Given the description of an element on the screen output the (x, y) to click on. 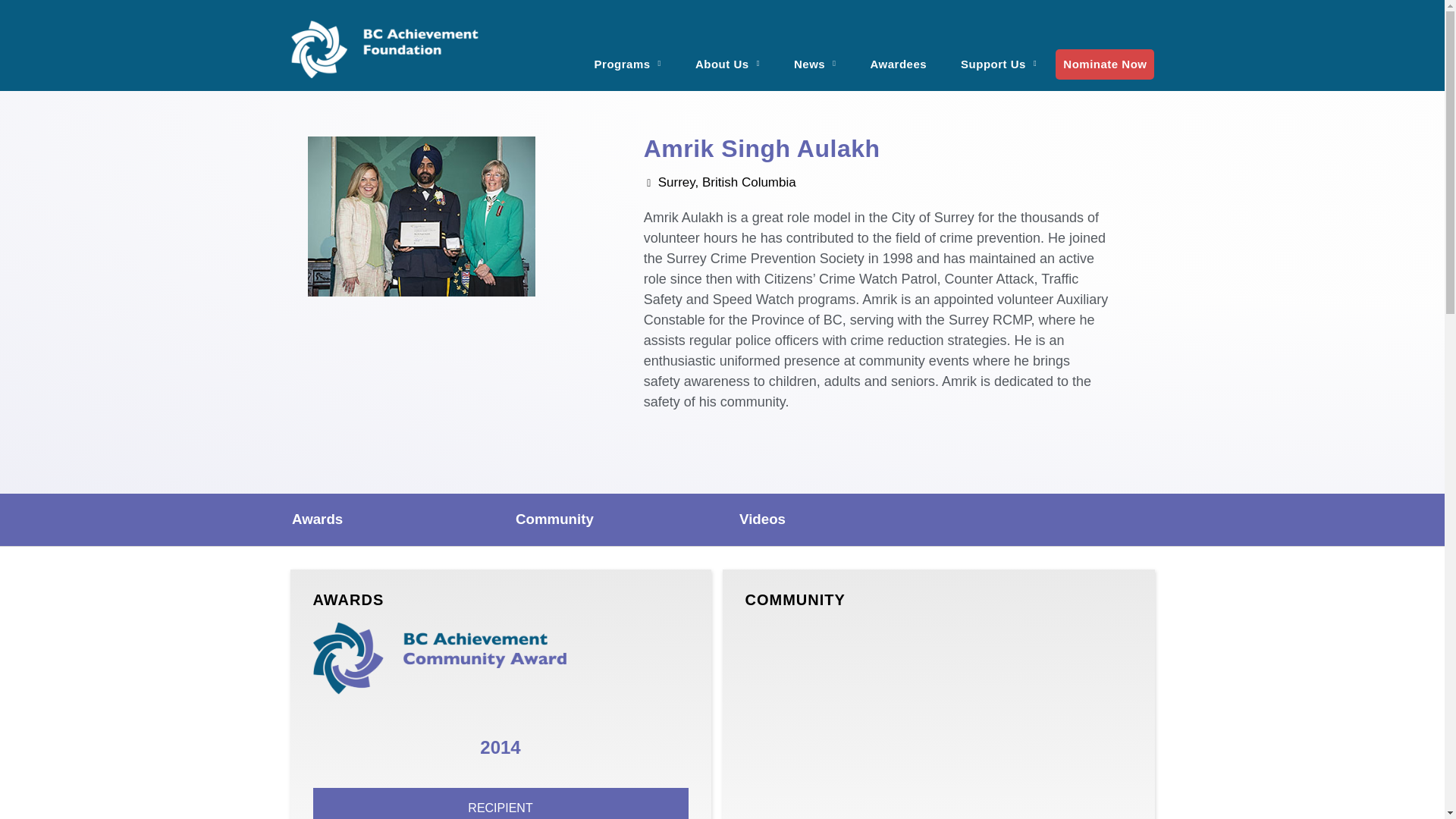
About Us (726, 54)
News (814, 54)
Awardees (899, 54)
Programs (628, 54)
Surrey (937, 720)
Nominate Now (1104, 63)
Support Us (997, 54)
